Given the description of an element on the screen output the (x, y) to click on. 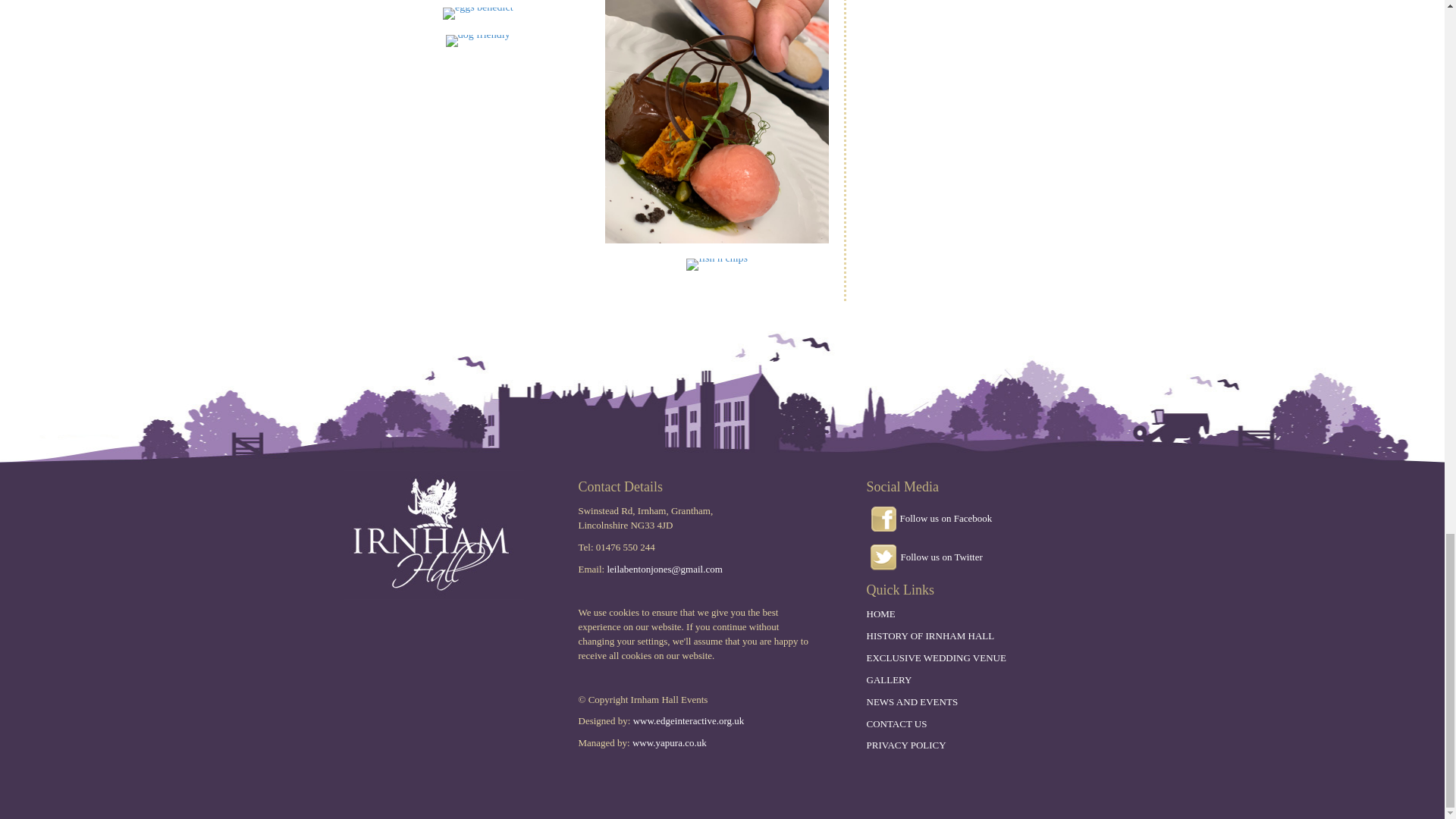
dog friendly (478, 40)
chocolate ganache (716, 121)
fish n chips (716, 264)
eggs benedict (477, 13)
